Given the description of an element on the screen output the (x, y) to click on. 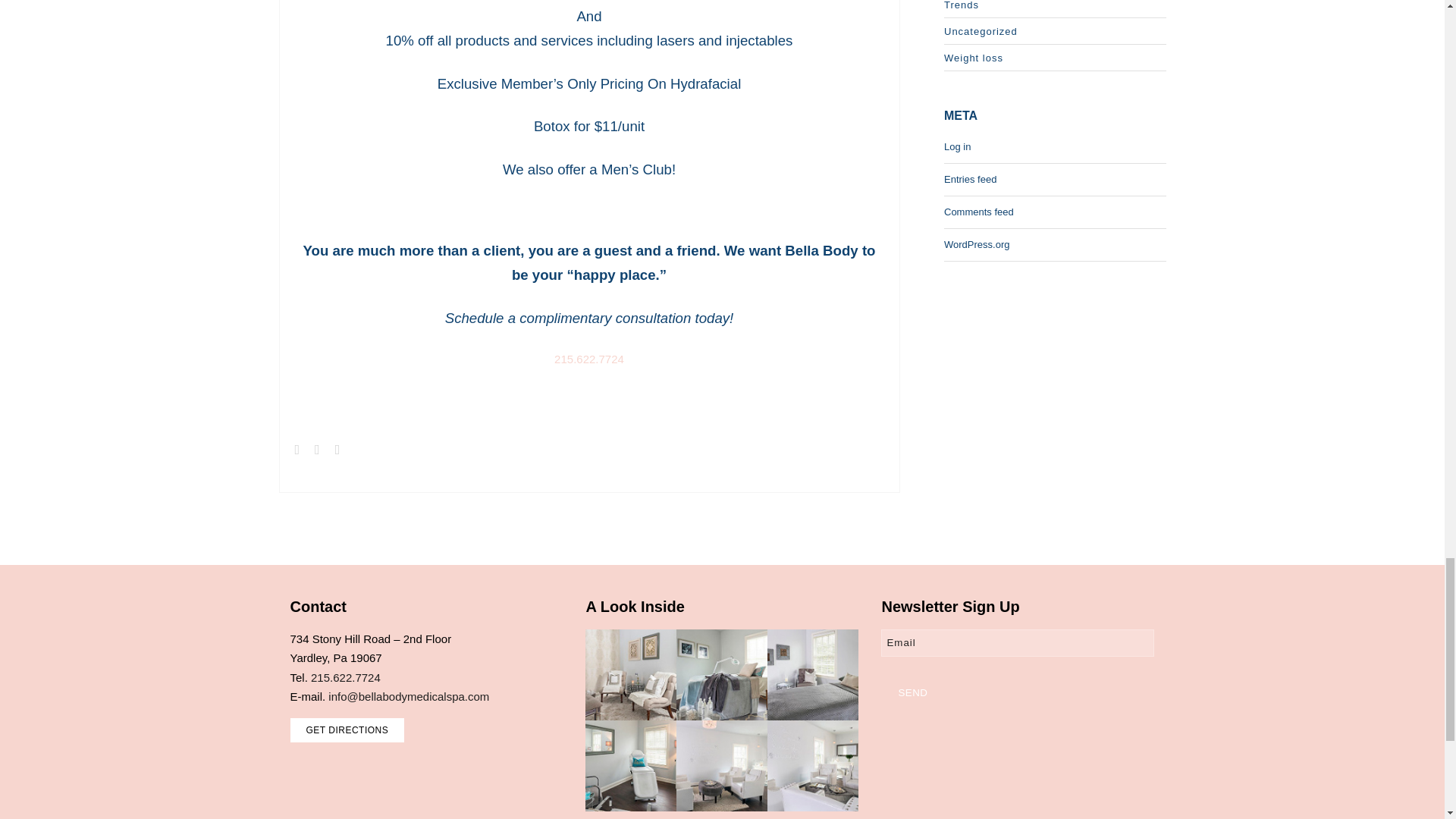
Send (911, 692)
